Given the description of an element on the screen output the (x, y) to click on. 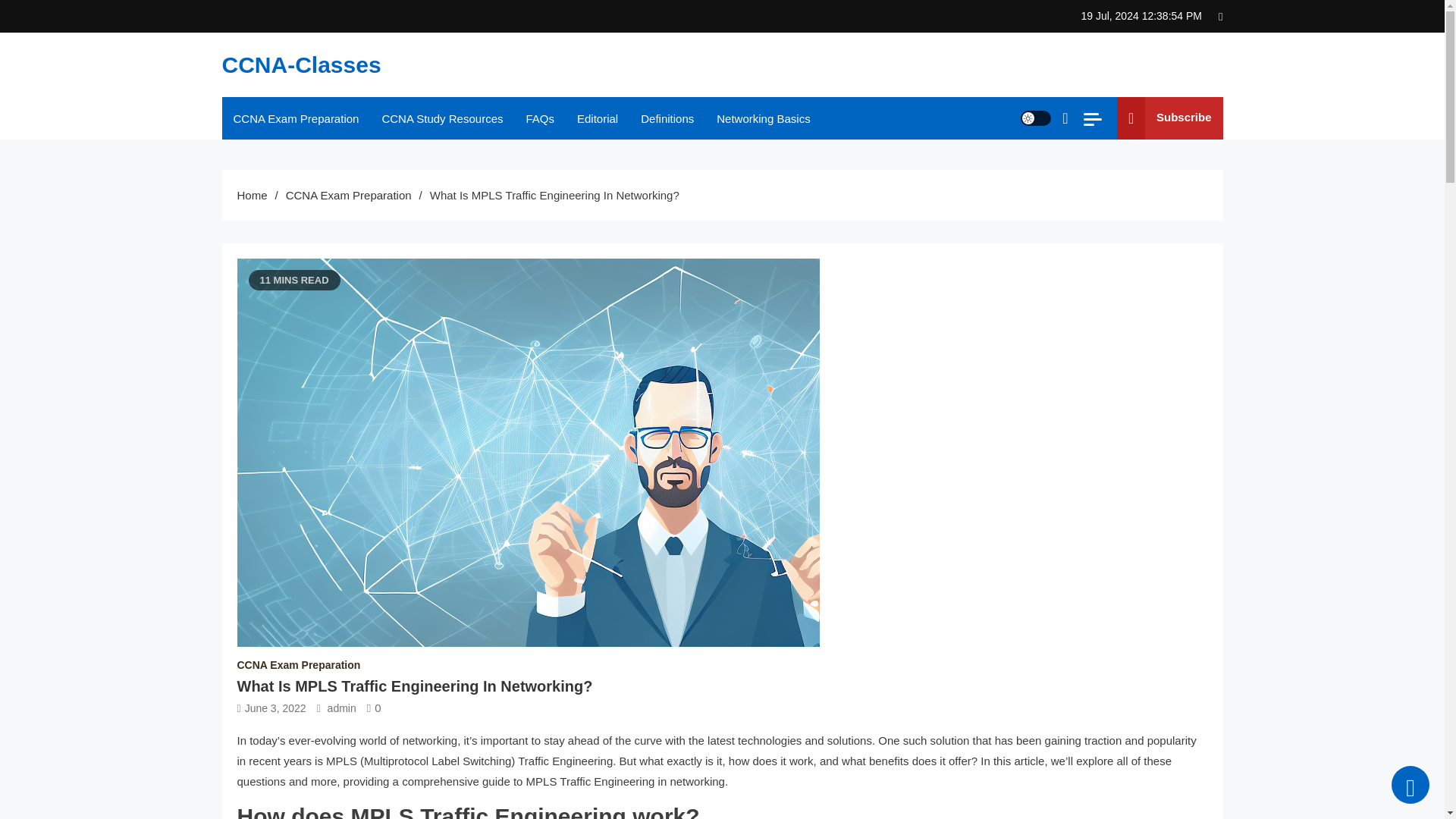
Subscribe (1169, 118)
June 3, 2022 (274, 708)
CCNA Exam Preparation (348, 195)
Editorial (597, 117)
CCNA Exam Preparation (295, 117)
admin (341, 708)
CCNA-Classes (300, 64)
Networking Basics (762, 117)
CCNA Exam Preparation (297, 664)
CCNA Study Resources (441, 117)
Home (250, 195)
FAQs (539, 117)
Definitions (666, 117)
site mode button (1035, 118)
Search (1026, 176)
